Given the description of an element on the screen output the (x, y) to click on. 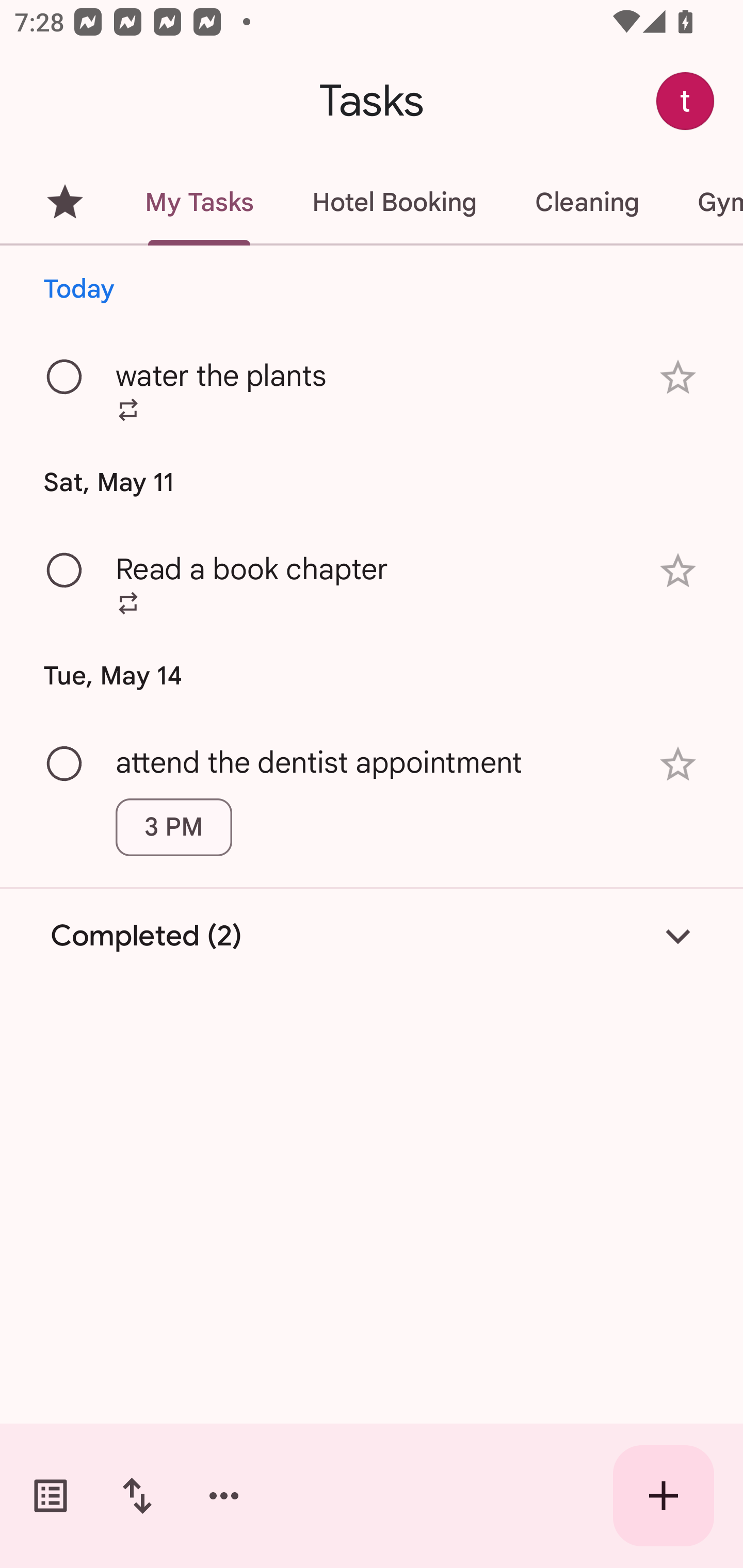
Starred (64, 202)
Hotel Booking (394, 202)
Cleaning (586, 202)
Add star (677, 376)
Mark as complete (64, 377)
Add star (677, 571)
Mark as complete (64, 570)
Add star (677, 764)
Mark as complete (64, 764)
3 PM (173, 827)
Completed (2) (371, 936)
Switch task lists (50, 1495)
Create new task (663, 1495)
Change sort order (136, 1495)
More options (223, 1495)
